Given the description of an element on the screen output the (x, y) to click on. 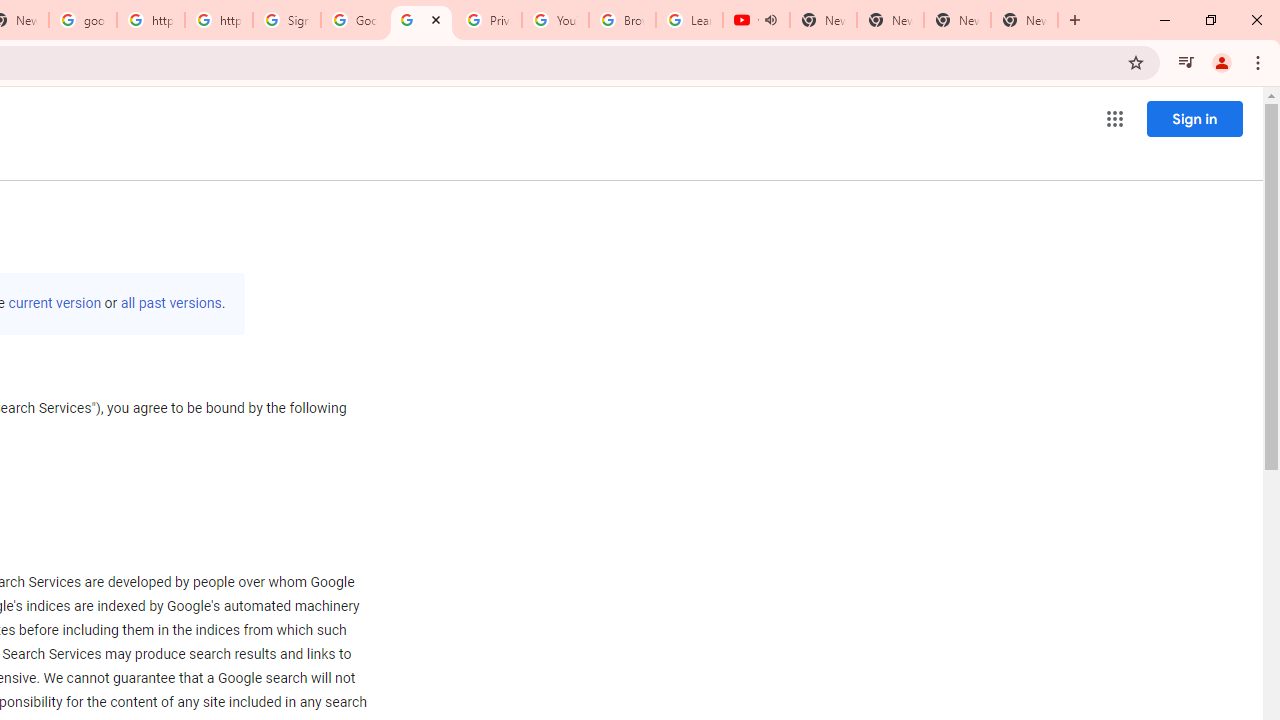
New Tab (1024, 20)
current version (54, 303)
https://scholar.google.com/ (219, 20)
